Given the description of an element on the screen output the (x, y) to click on. 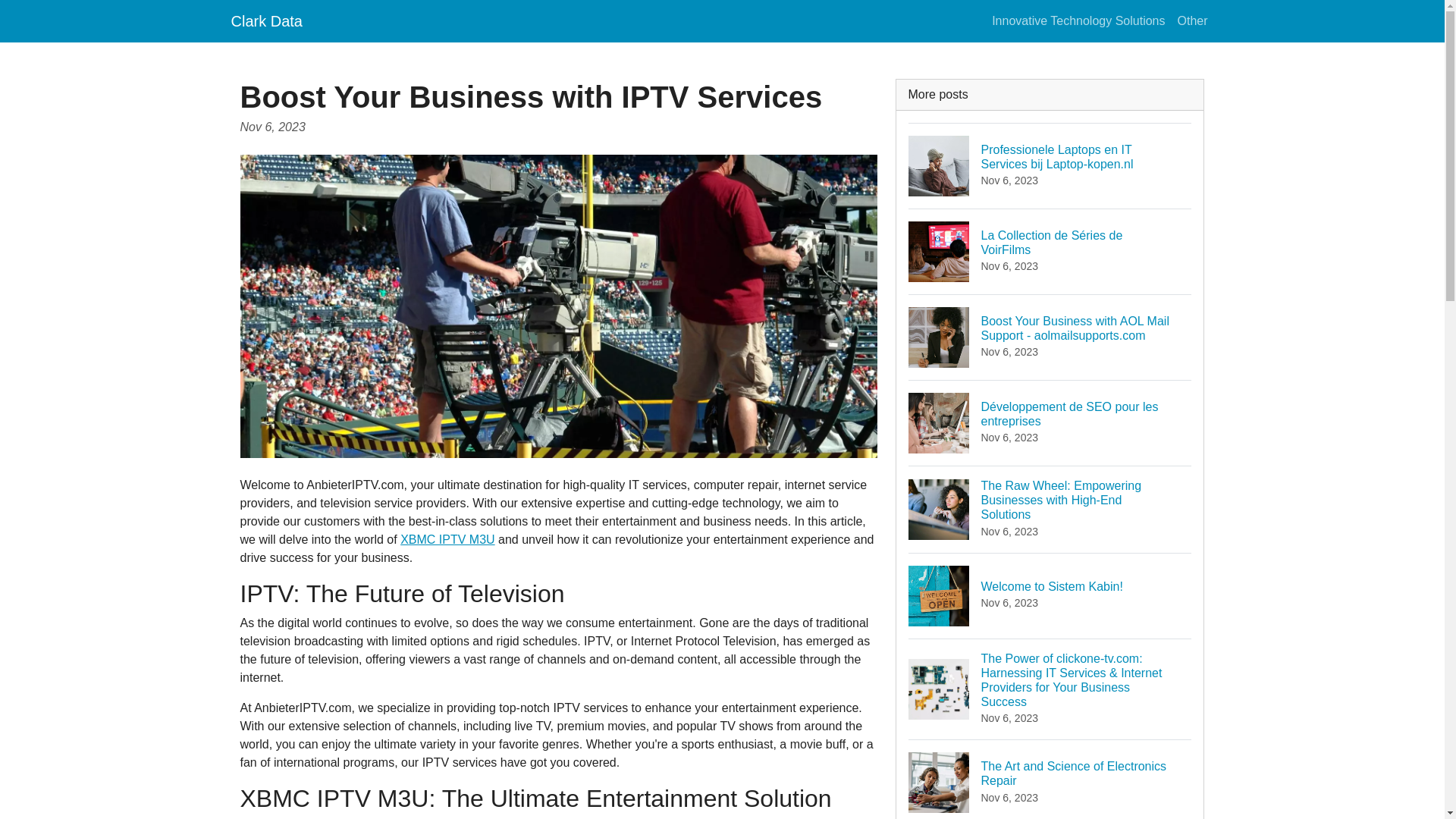
XBMC IPTV M3U (447, 539)
Clark Data (1050, 779)
Other (1050, 595)
Innovative Technology Solutions (265, 20)
